Given the description of an element on the screen output the (x, y) to click on. 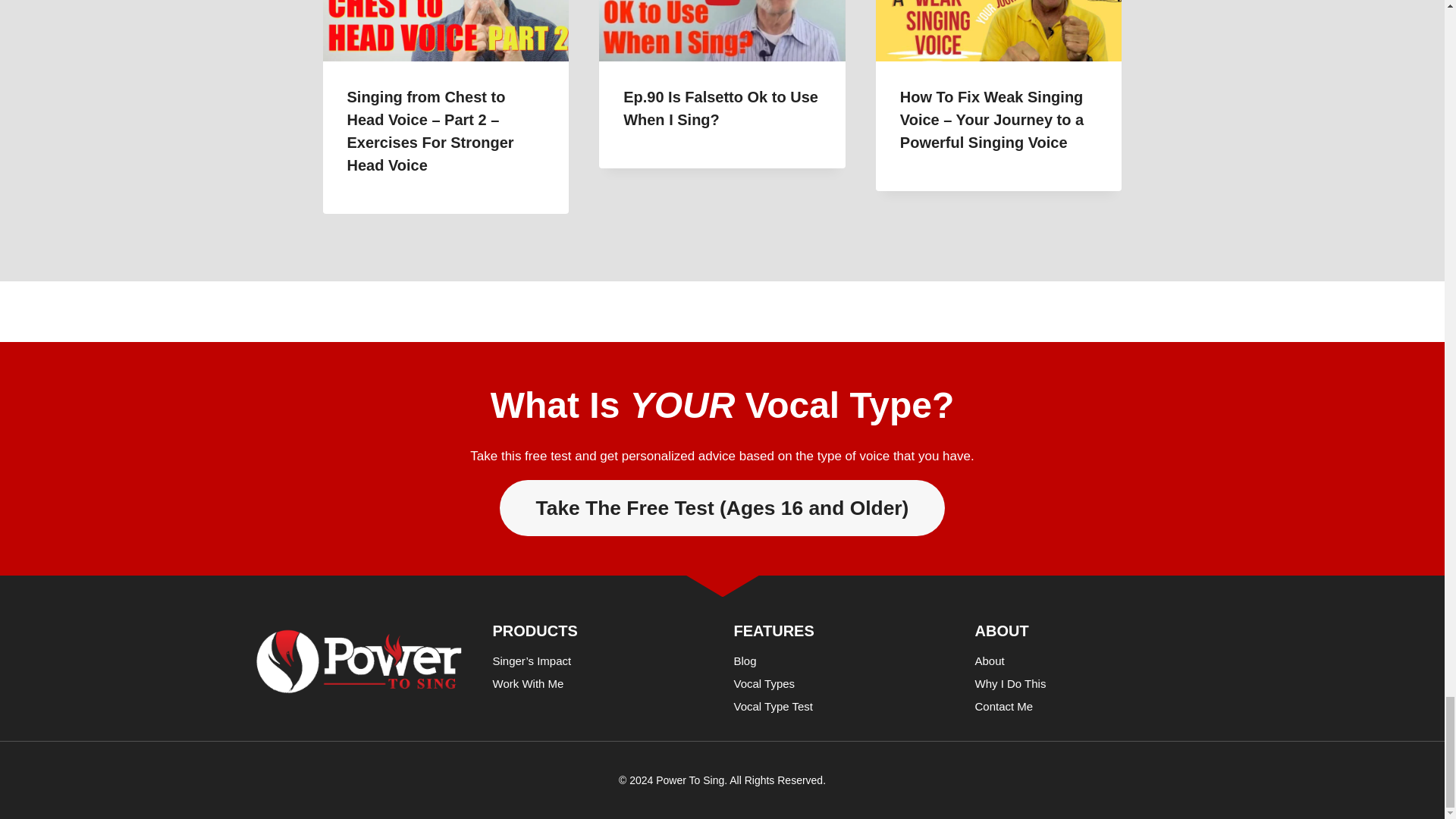
Work With Me (602, 683)
Blog (842, 661)
Ep.90 Is Falsetto Ok to Use When I Sing? (720, 107)
